Given the description of an element on the screen output the (x, y) to click on. 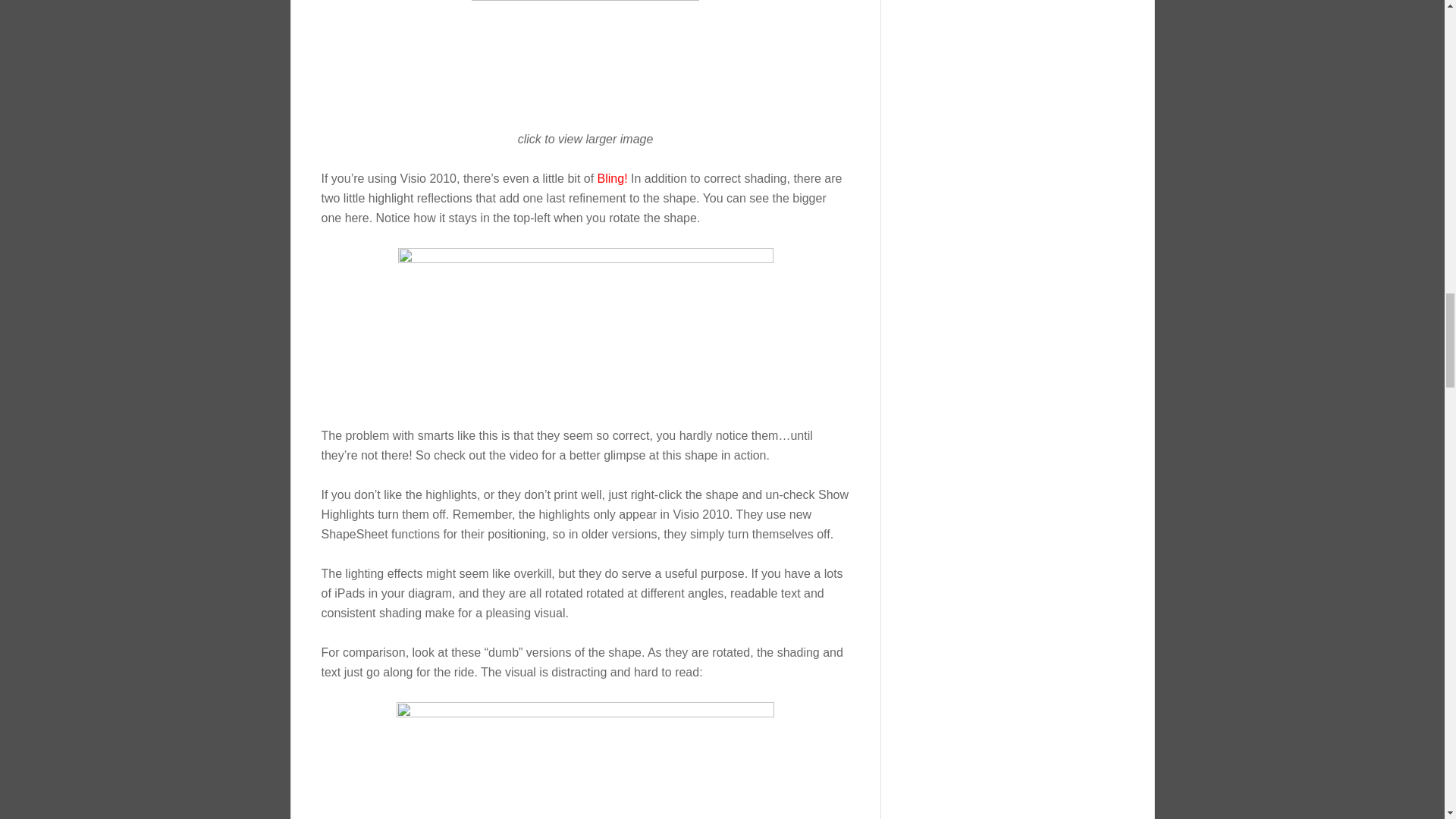
ipad-visio-shape-highlight (585, 327)
ipad-visio-shape-shading (584, 54)
ipad-visio-shape-without-smarts (585, 760)
